Given the description of an element on the screen output the (x, y) to click on. 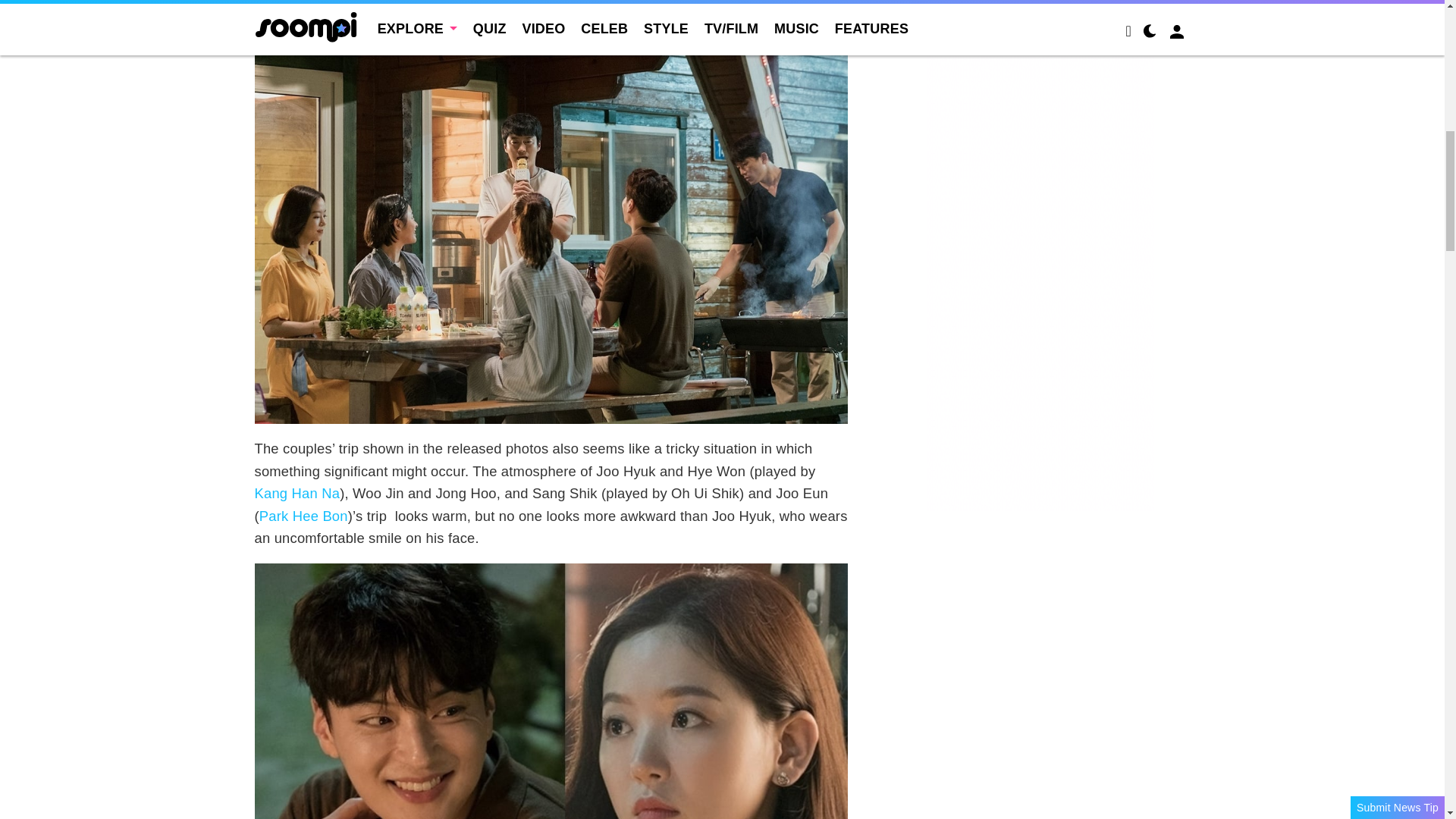
Kang Han Na (297, 493)
Park Hee Bon (303, 515)
